Given the description of an element on the screen output the (x, y) to click on. 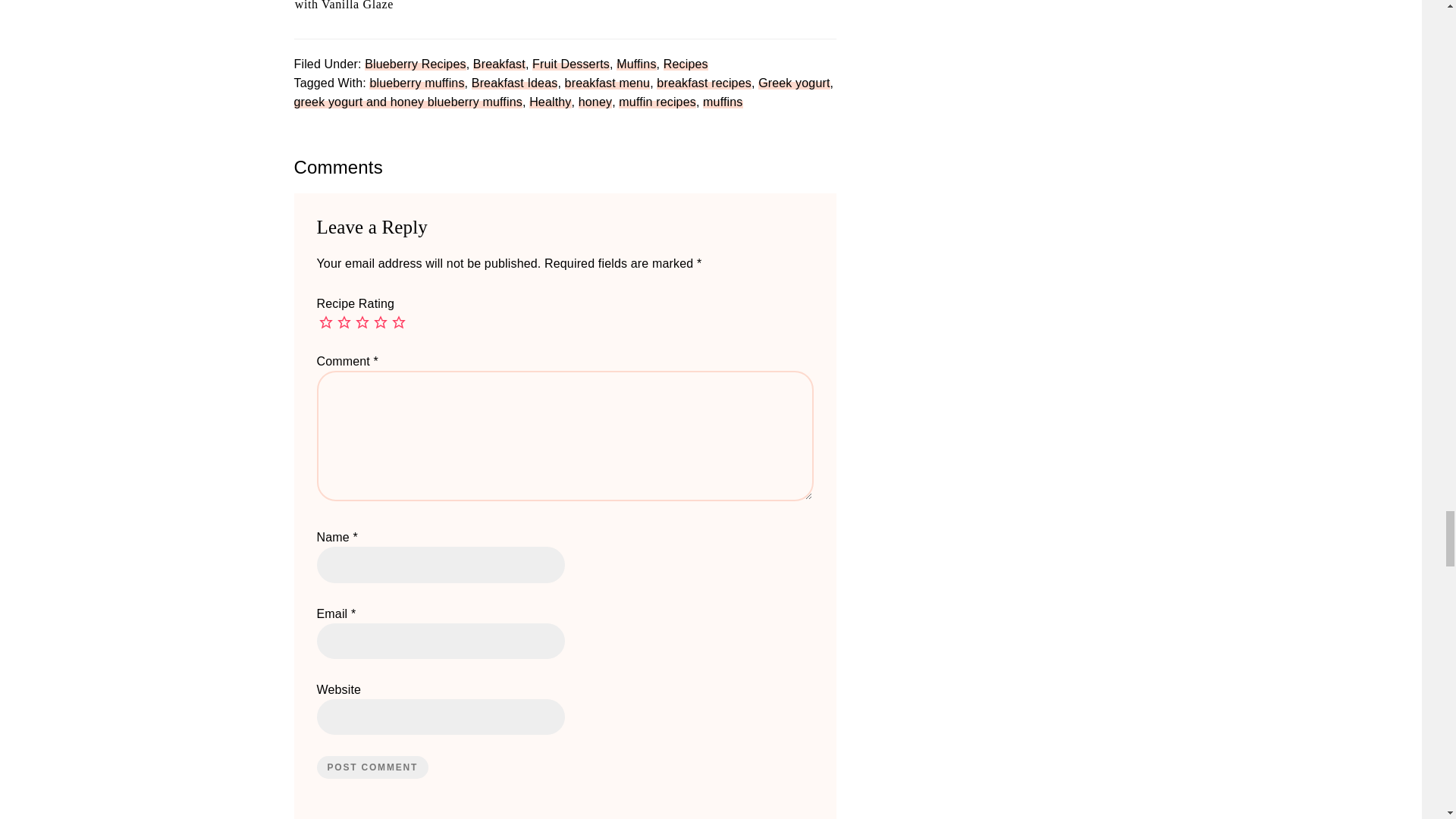
Post Comment (373, 766)
Permanent Link to How to Make Buttermilk Pancakes (785, 0)
